Given the description of an element on the screen output the (x, y) to click on. 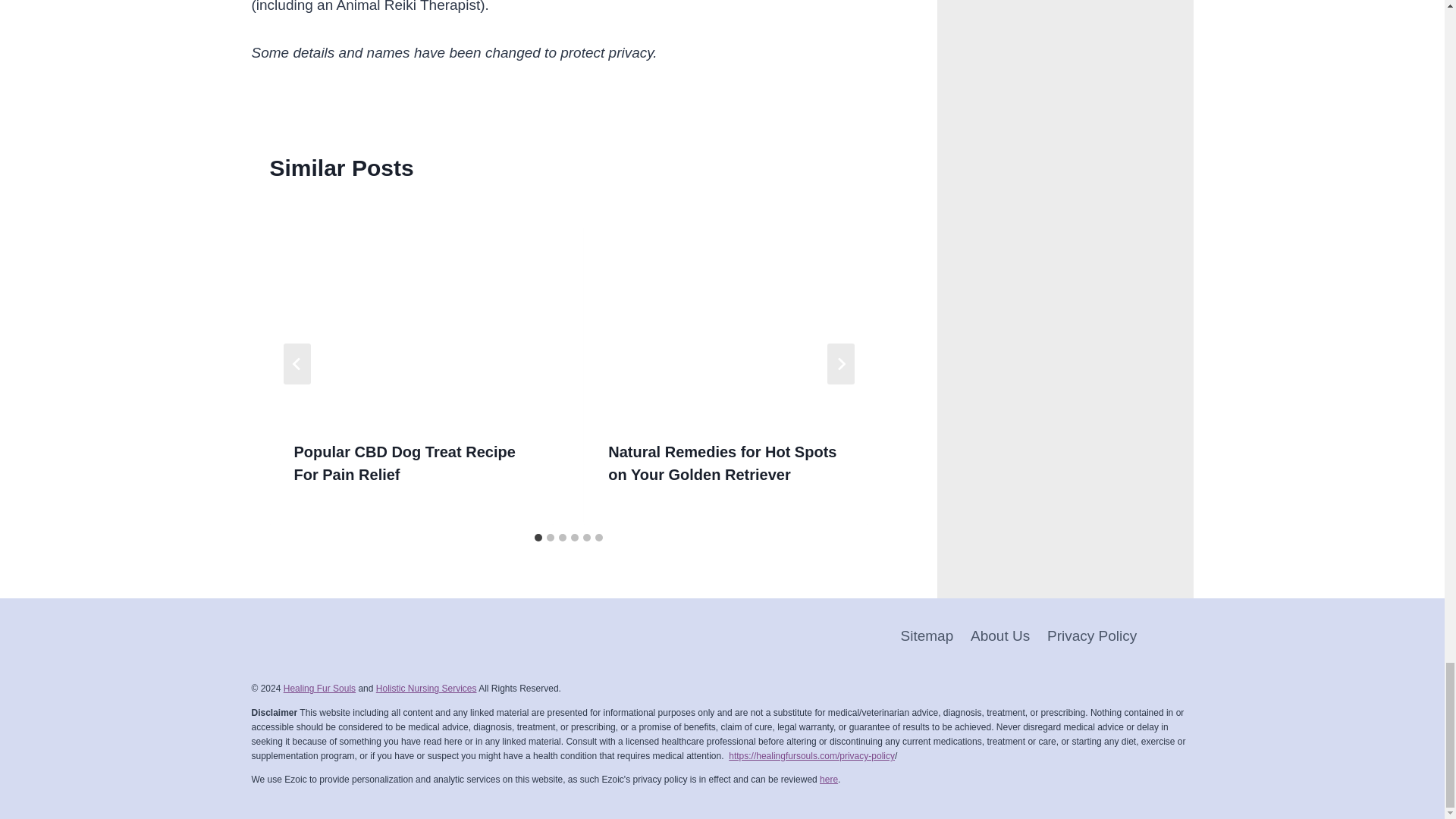
Natural Remedies for Hot Spots on Your Golden Retriever (725, 309)
Popular CBD Dog Treat Recipe For Pain Relief (404, 463)
Popular CBD Dog Treat Recipe For Pain Relief (411, 309)
